Given the description of an element on the screen output the (x, y) to click on. 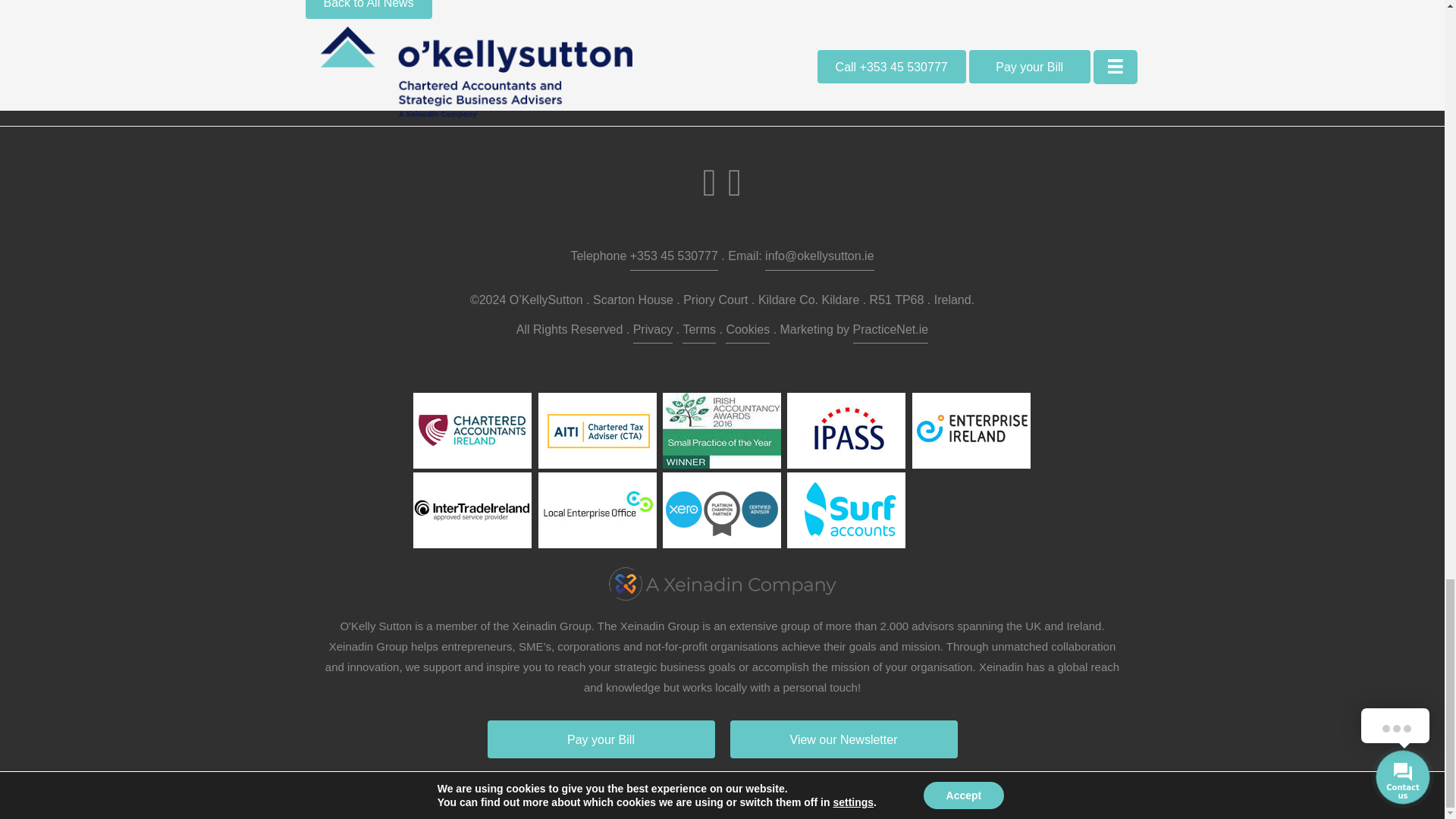
A-Xeinadin-Company (721, 583)
Terms (699, 331)
PracticeNet.ie (890, 331)
Cookies (747, 331)
Back to All News (367, 9)
Pay your Bill (600, 739)
View our Newsletter (842, 739)
Privacy (652, 331)
